Given the description of an element on the screen output the (x, y) to click on. 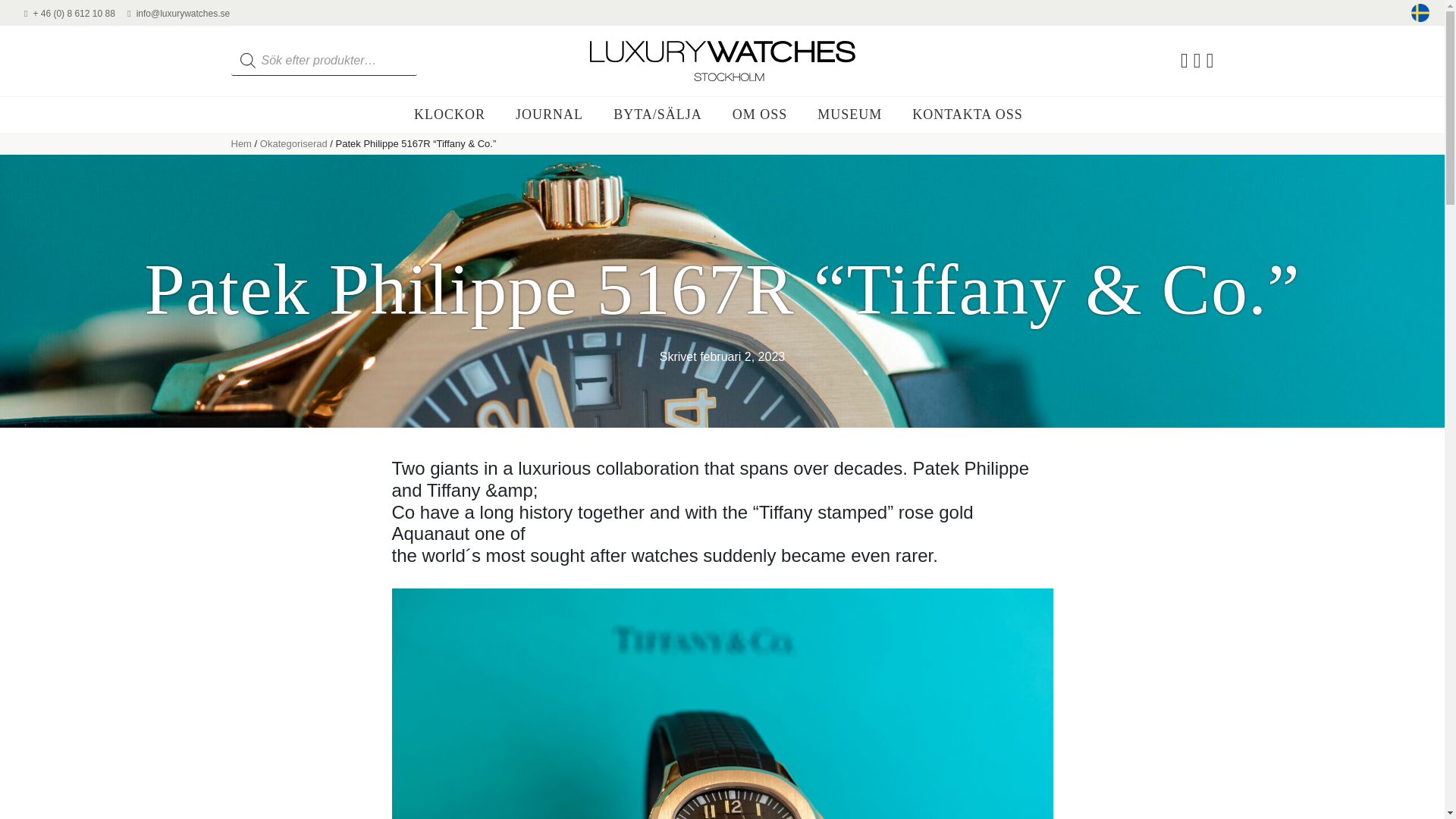
OM OSS (759, 114)
Hem (240, 143)
JOURNAL (549, 114)
KONTAKTA OSS (967, 114)
KLOCKOR (448, 114)
MUSEUM (849, 114)
Okategoriserad (293, 143)
